Given the description of an element on the screen output the (x, y) to click on. 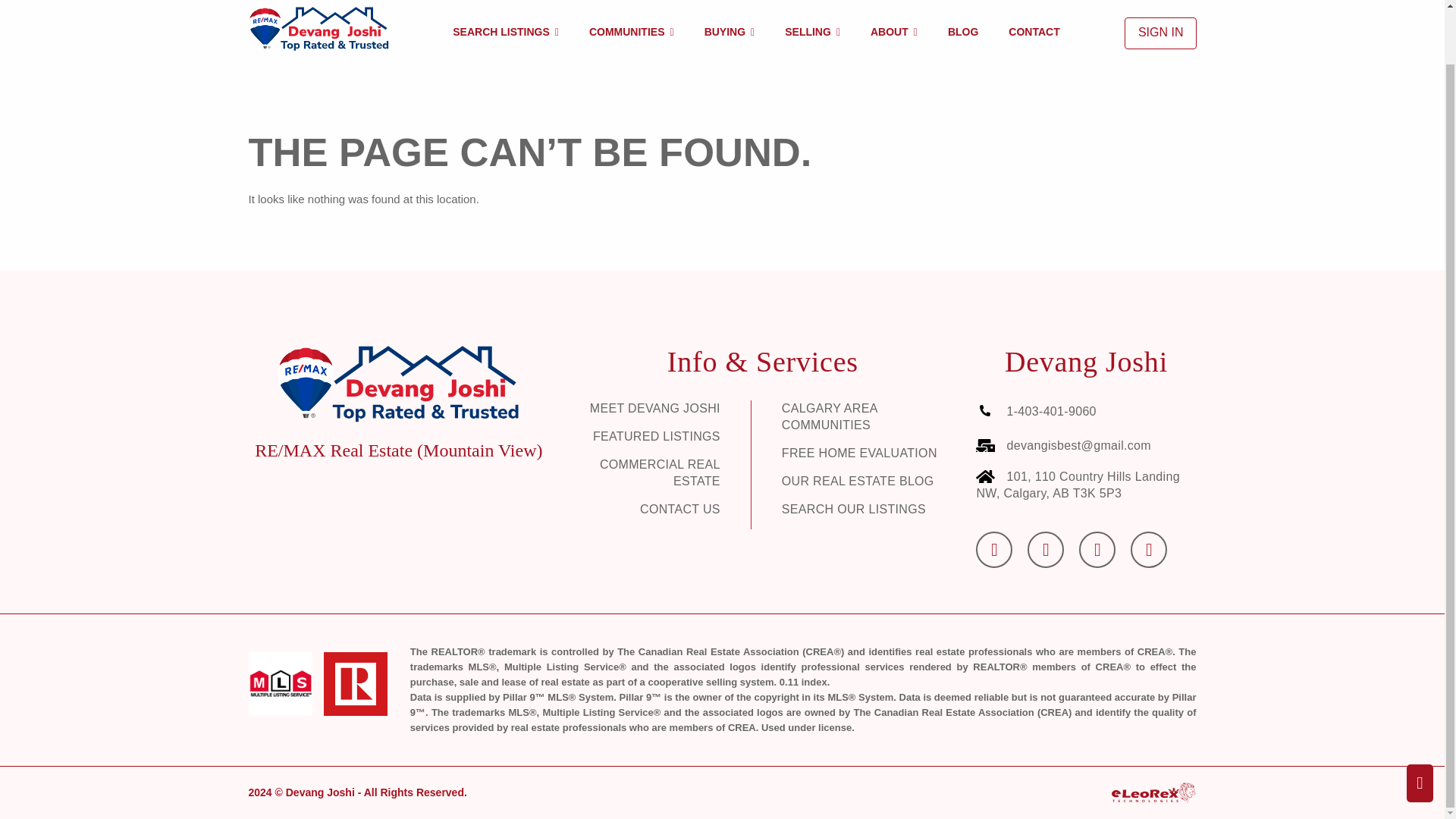
Devang Joshi (318, 29)
COMMUNITIES (631, 32)
SEARCH LISTINGS (505, 32)
eLeoRex Technologies (1153, 790)
BUYING (730, 32)
